Given the description of an element on the screen output the (x, y) to click on. 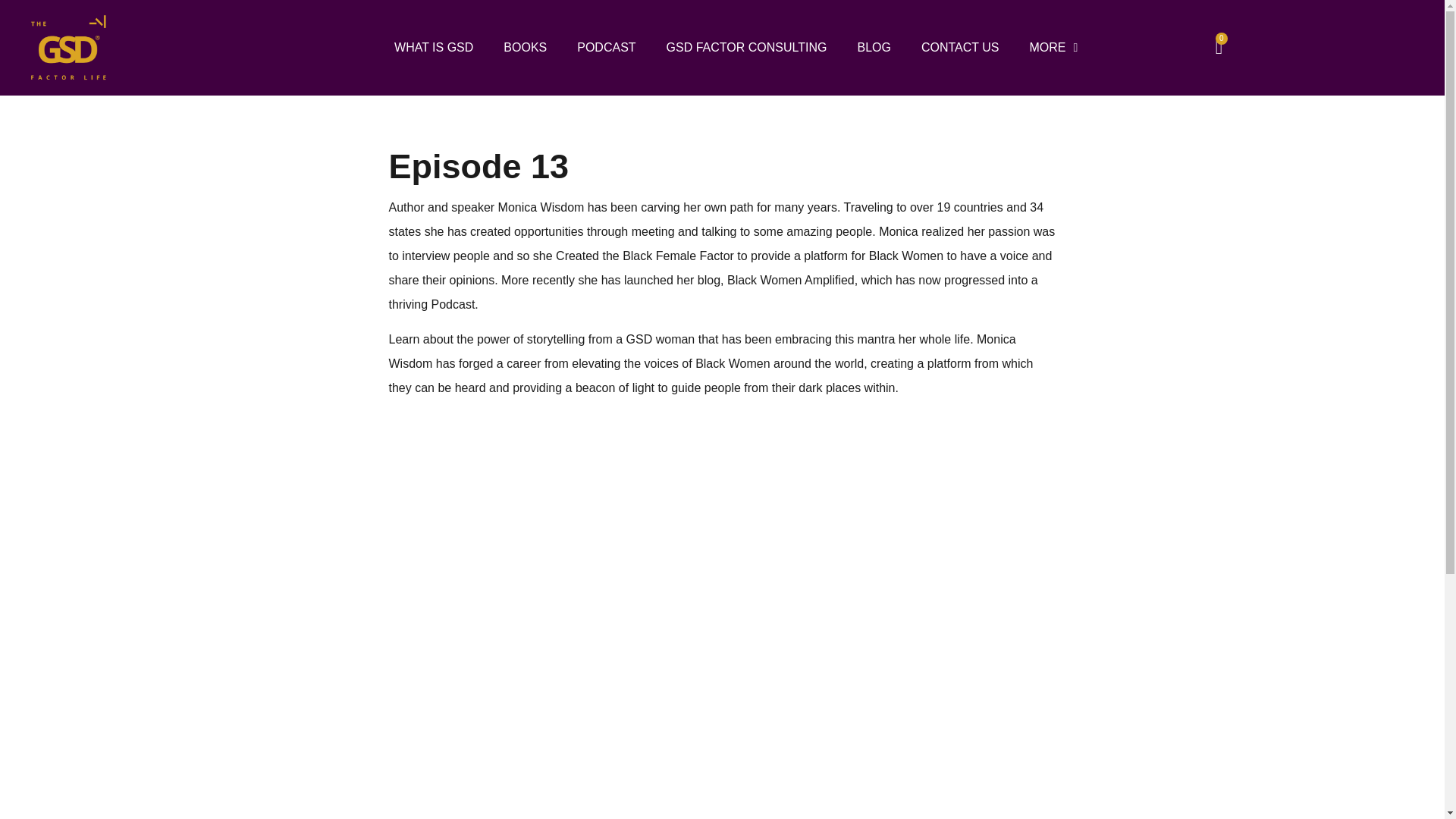
MORE (1053, 48)
0 (1218, 47)
PODCAST (606, 48)
WHAT IS GSD (432, 48)
BOOKS (524, 48)
BLOG (873, 48)
CONTACT US (959, 48)
GSD FACTOR CONSULTING (746, 48)
